Given the description of an element on the screen output the (x, y) to click on. 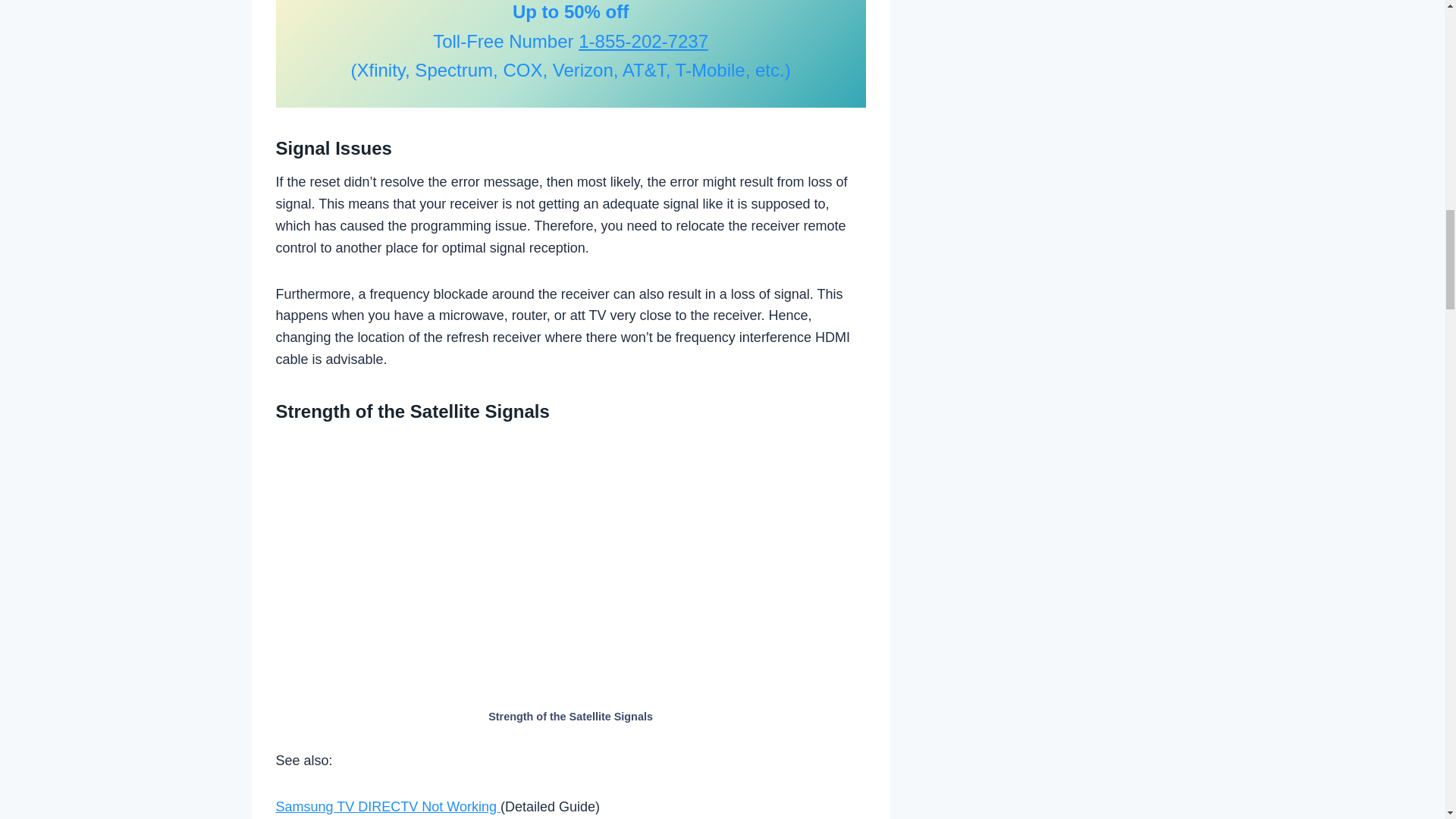
1-855-202-7237 (642, 41)
Samsung TV DIRECTV Not Working (388, 806)
